Given the description of an element on the screen output the (x, y) to click on. 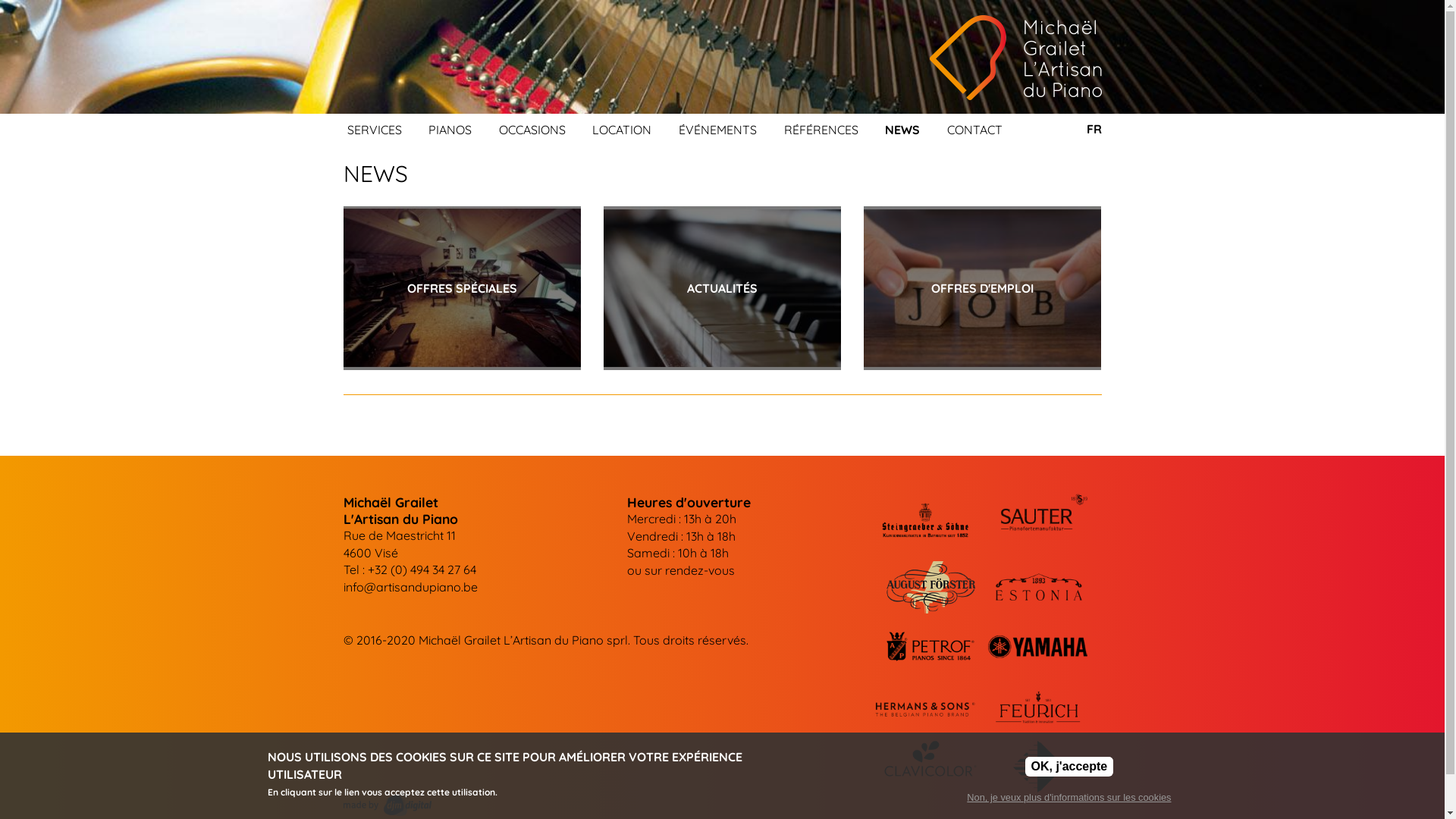
NEWS Element type: text (912, 129)
info@artisandupiano.be Element type: text (409, 586)
Non, je veux plus d'informations sur les cookies Element type: text (1068, 797)
OFFRES D'EMPLOI Element type: text (982, 288)
PIANOS Element type: text (459, 129)
FR Element type: text (1093, 128)
SERVICES Element type: text (383, 129)
OK, j'accepte Element type: text (1069, 766)
OCCASIONS Element type: text (542, 129)
Accueil Element type: hover (1015, 57)
LOCATION Element type: text (631, 129)
CONTACT Element type: text (984, 129)
+32 (0) 494 34 27 64 Element type: text (421, 569)
